Given the description of an element on the screen output the (x, y) to click on. 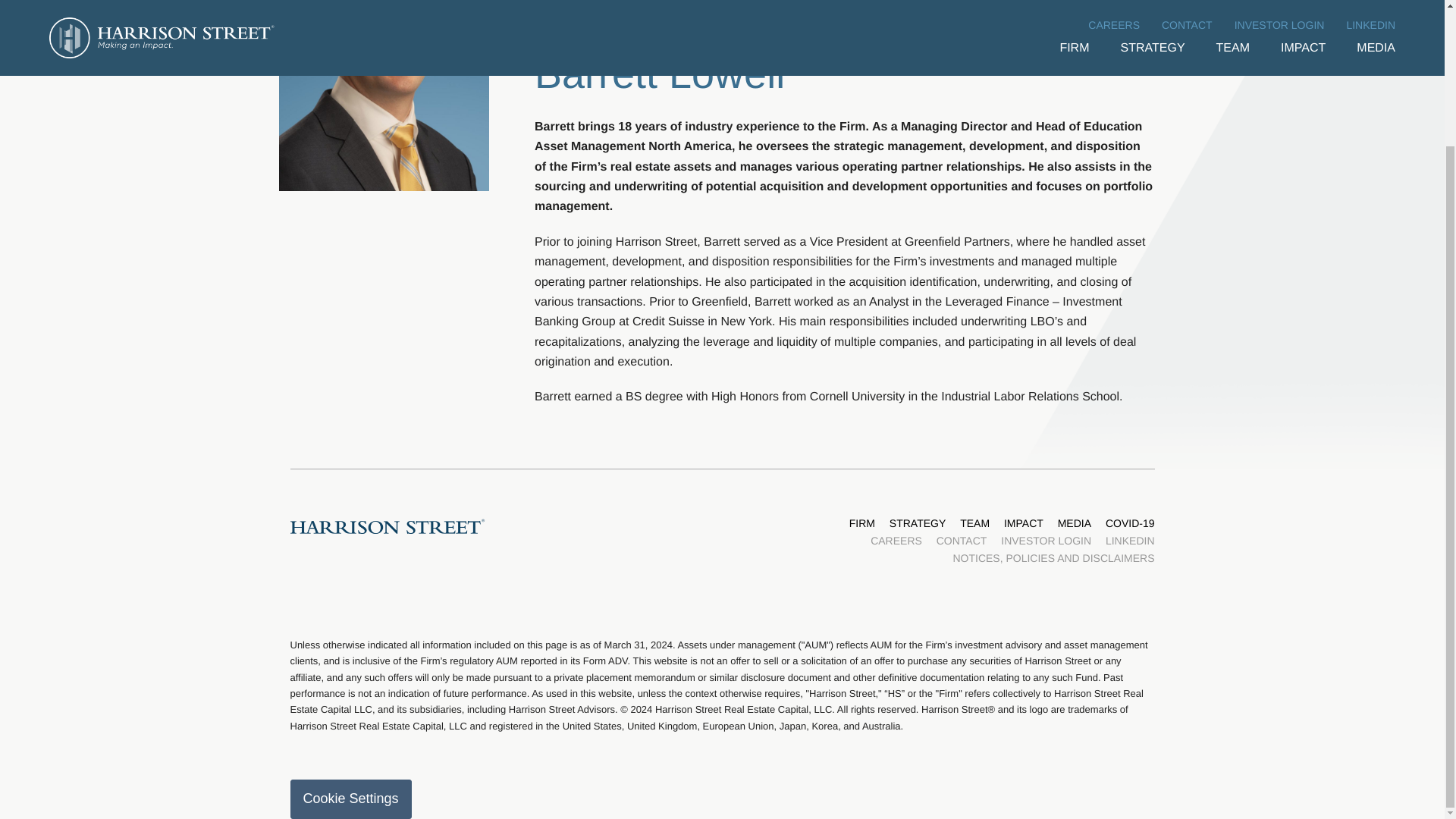
CAREERS (895, 540)
NOTICES, POLICIES AND DISCLAIMERS (1053, 558)
IMPACT (1023, 523)
STRATEGY (916, 523)
CONTACT (961, 540)
FIRM (861, 523)
COVID-19 (1129, 523)
TEAM (974, 523)
LINKEDIN (1129, 540)
INVESTOR LOGIN (1045, 540)
MEDIA (1074, 523)
